Given the description of an element on the screen output the (x, y) to click on. 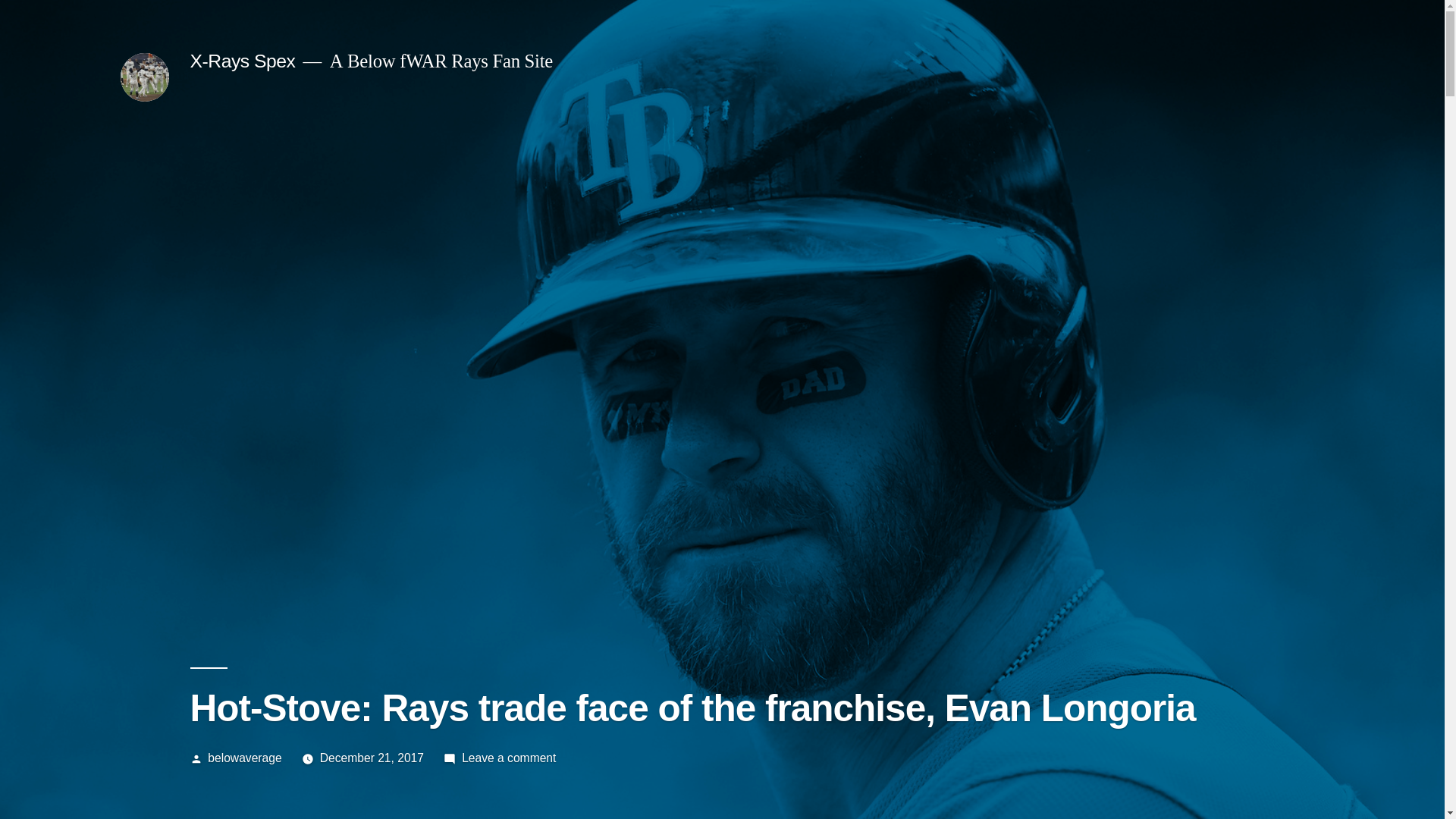
belowaverage (244, 757)
December 21, 2017 (371, 757)
X-Rays Spex (242, 60)
